Given the description of an element on the screen output the (x, y) to click on. 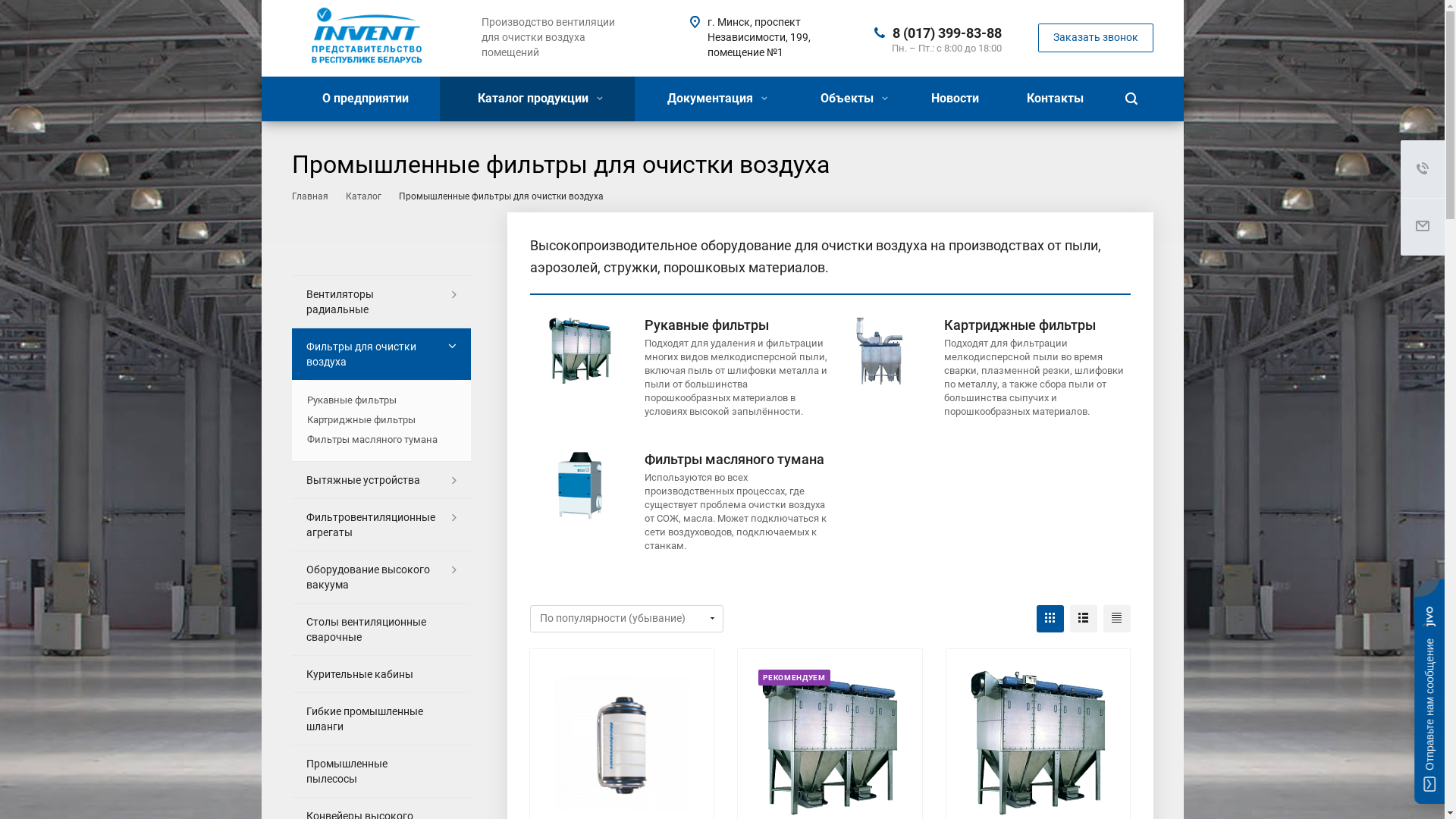
pg-invent.by Element type: hover (363, 38)
8 (017) 399-83-88 Element type: text (946, 32)
